Given the description of an element on the screen output the (x, y) to click on. 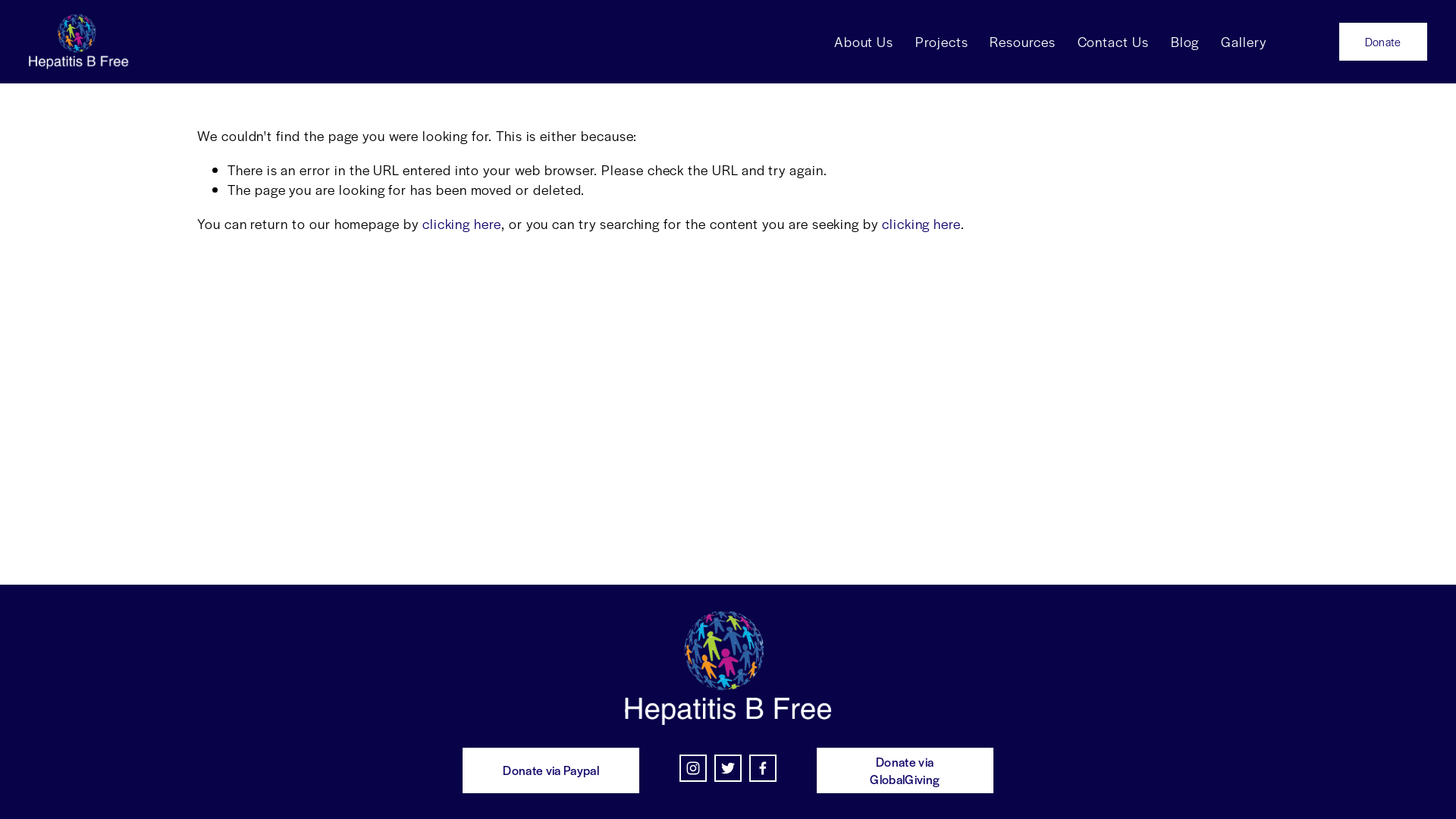
Gallery Element type: text (1243, 41)
Blog Element type: text (1184, 41)
clicking here Element type: text (461, 222)
Projects Element type: text (941, 41)
Donate Element type: text (1383, 41)
clicking here Element type: text (920, 222)
About Us Element type: text (863, 41)
Contact Us Element type: text (1112, 41)
Donate via GlobalGiving Element type: text (904, 770)
Resources Element type: text (1021, 41)
Donate via Paypal Element type: text (550, 770)
